Given the description of an element on the screen output the (x, y) to click on. 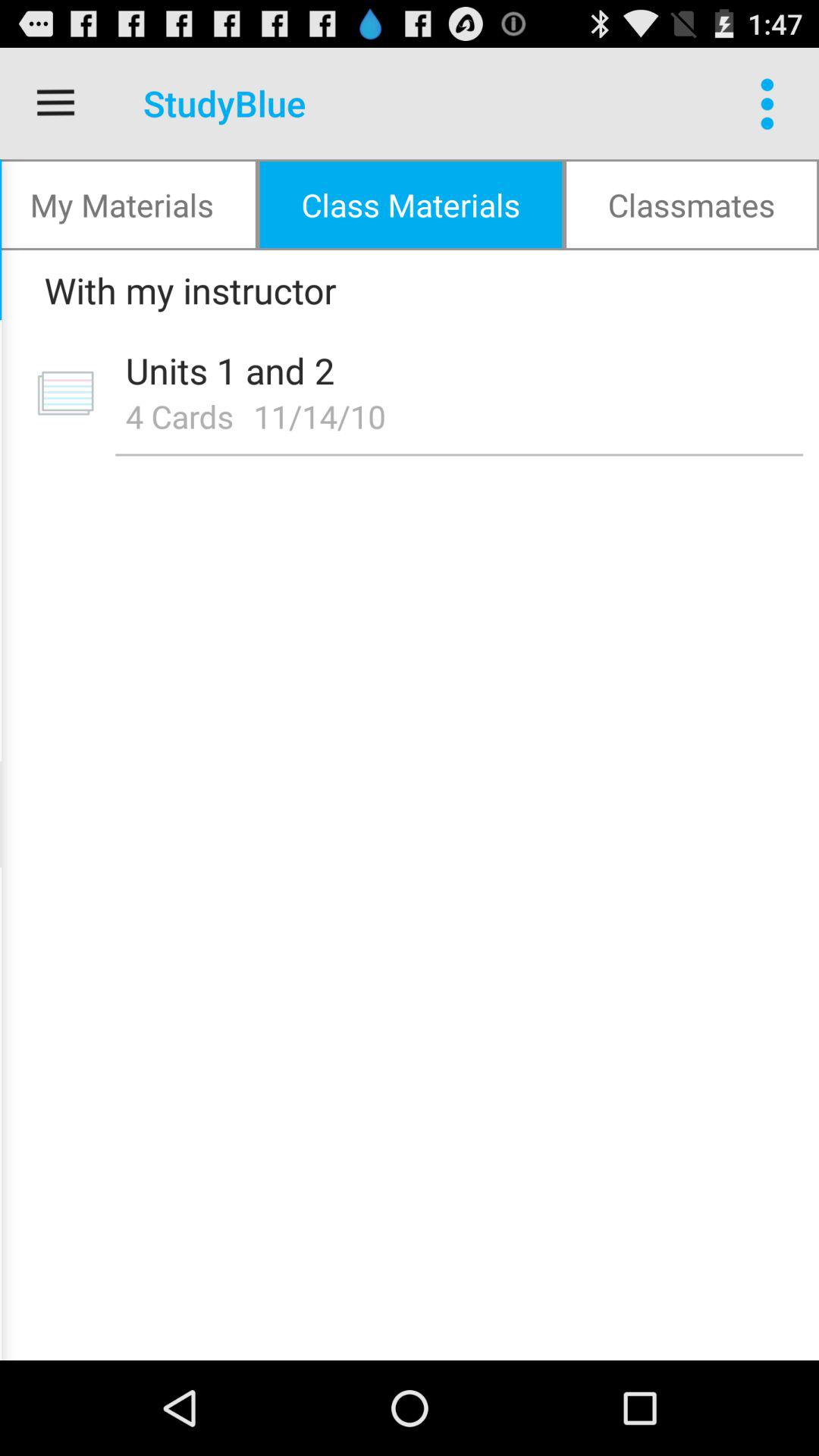
click the icon below the units 1 and (324, 415)
